Given the description of an element on the screen output the (x, y) to click on. 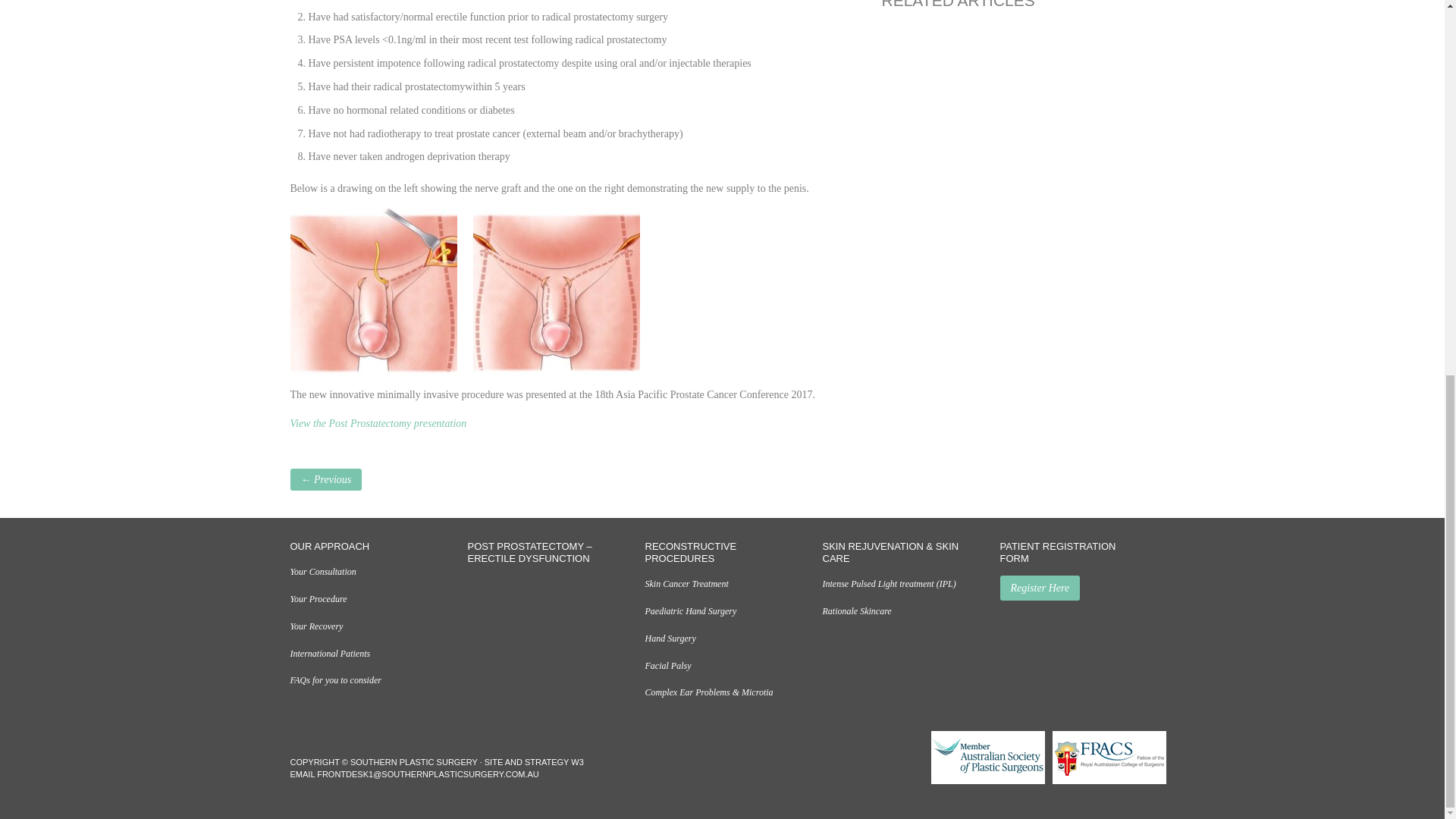
Paediatric Hand Surgery (690, 611)
International Patients (329, 653)
View the Post Prostatectomy presentation (377, 423)
Your Recovery (315, 625)
Skin Cancer Treatment (686, 583)
OUR APPROACH (366, 546)
Your Consultation (322, 571)
Register Here (1039, 587)
RECONSTRUCTIVE PROCEDURES (722, 552)
PATIENT REGISTRATION FORM (1076, 552)
W3 (576, 761)
FAQs for you to consider (334, 679)
Rationale Skincare (856, 611)
Your Procedure (317, 598)
Digital Strategy, Design and Development by Working Three (576, 761)
